Given the description of an element on the screen output the (x, y) to click on. 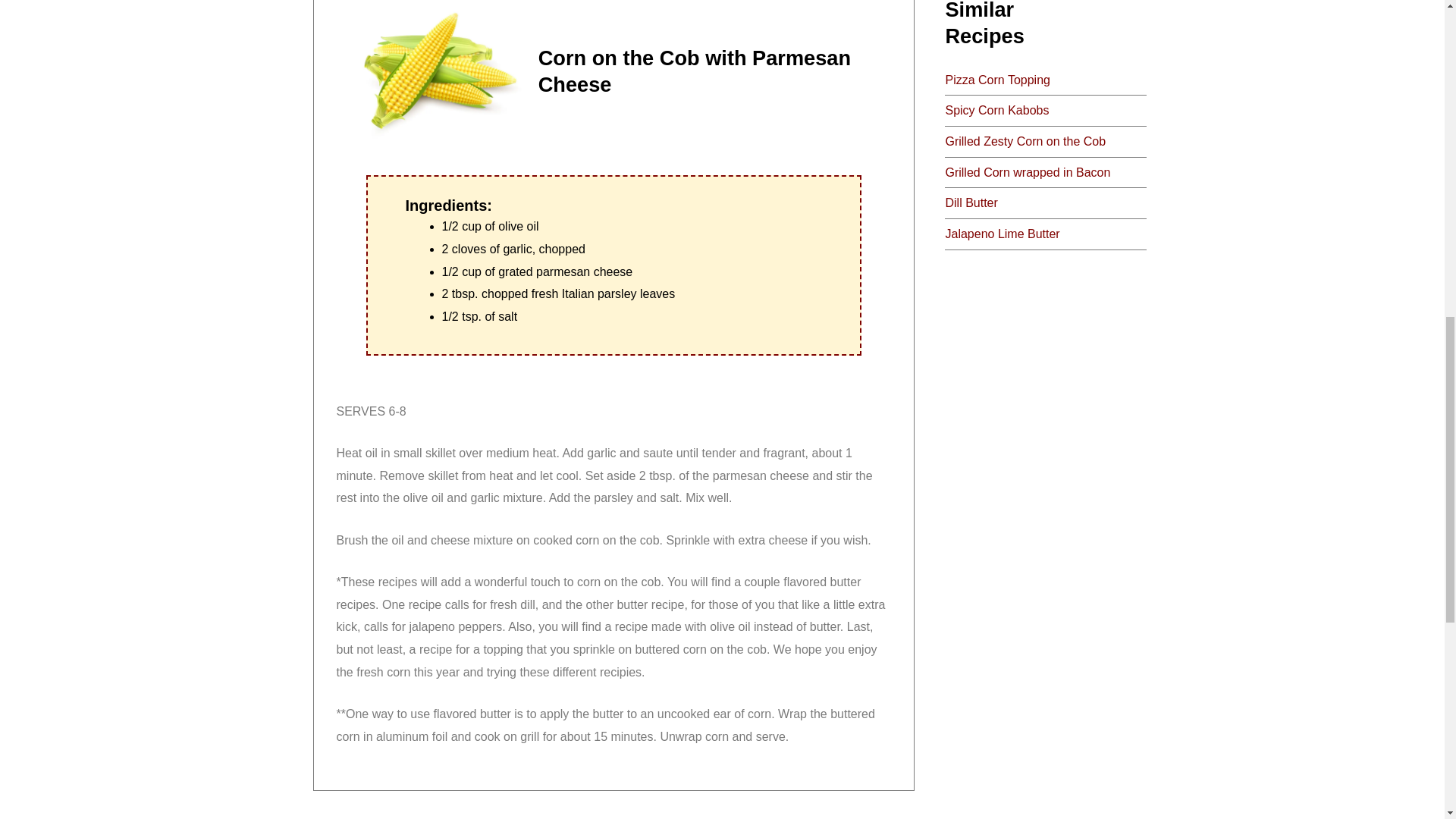
Grilled Zesty Corn on the Cob (1024, 141)
Dill Butter (970, 202)
Grilled Corn wrapped in Bacon (1026, 172)
Pizza Corn Topping (996, 79)
Spicy Corn Kabobs (996, 110)
Jalapeno Lime Butter (1001, 233)
